Given the description of an element on the screen output the (x, y) to click on. 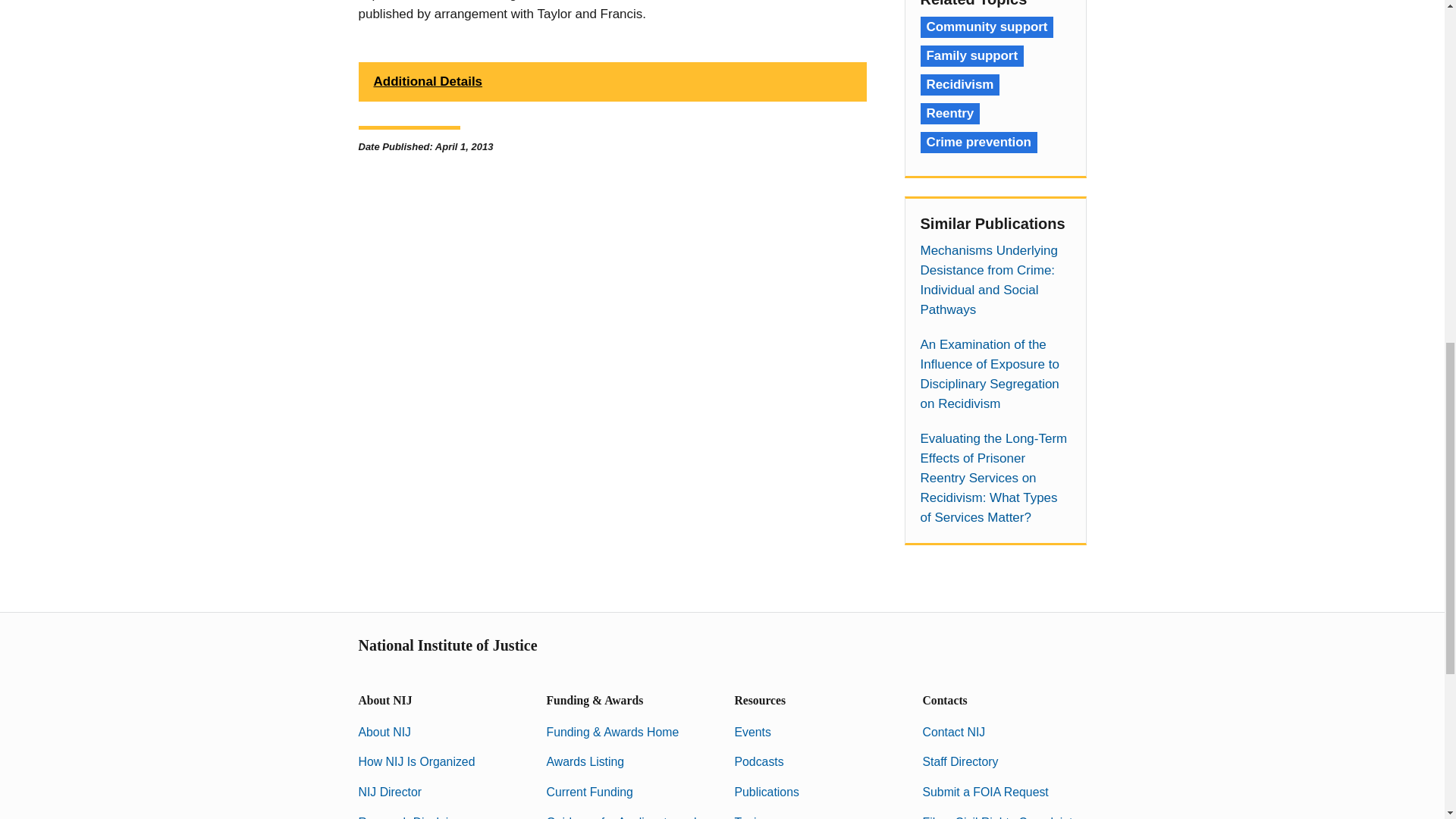
Additional Details (612, 81)
